Given the description of an element on the screen output the (x, y) to click on. 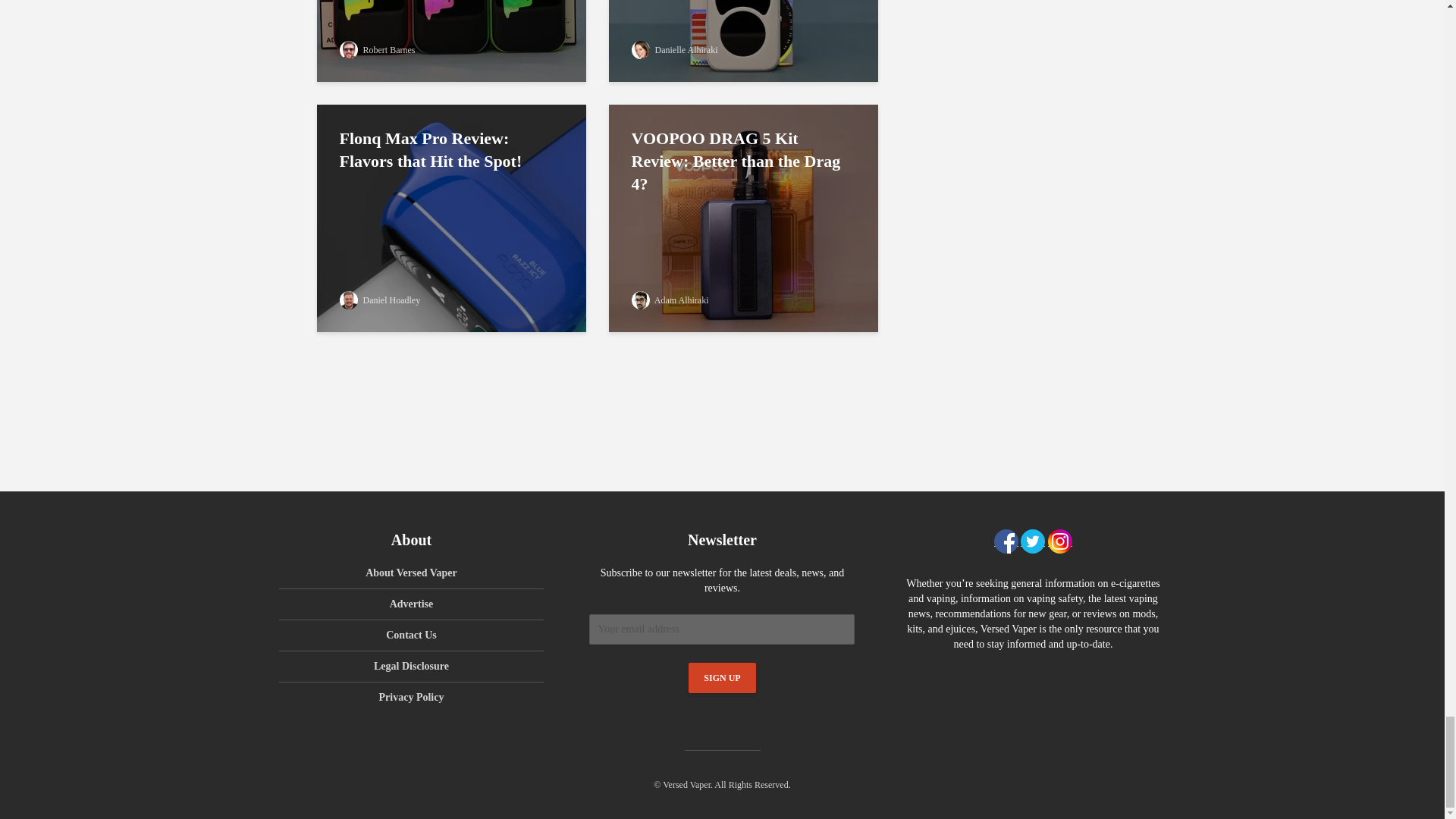
SIGN UP (721, 677)
VOOPOO DRAG 5 Kit Review: Better than the Drag 4? (742, 216)
Flonq Max Pro Review: Flavors that Hit the Spot! (451, 216)
